Given the description of an element on the screen output the (x, y) to click on. 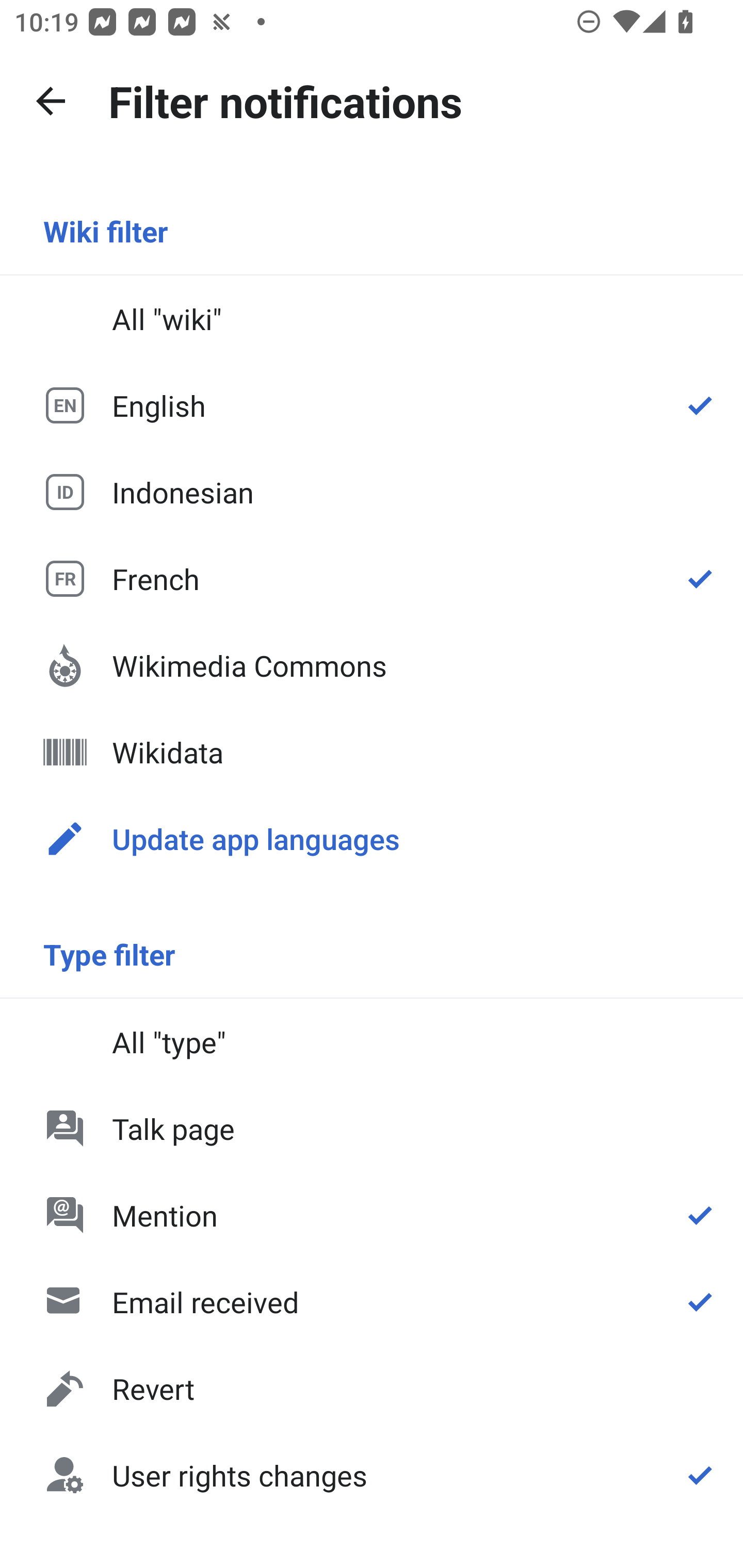
Navigate up (50, 101)
All "wiki" (371, 318)
EN English (371, 405)
ID Indonesian (371, 491)
FR French (371, 578)
Wikimedia Commons (371, 665)
Wikidata (371, 751)
Update app languages (371, 837)
All "type" (371, 1041)
Talk page (371, 1128)
Mention (371, 1215)
Email received (371, 1302)
Revert (371, 1388)
User rights changes (371, 1474)
